Given the description of an element on the screen output the (x, y) to click on. 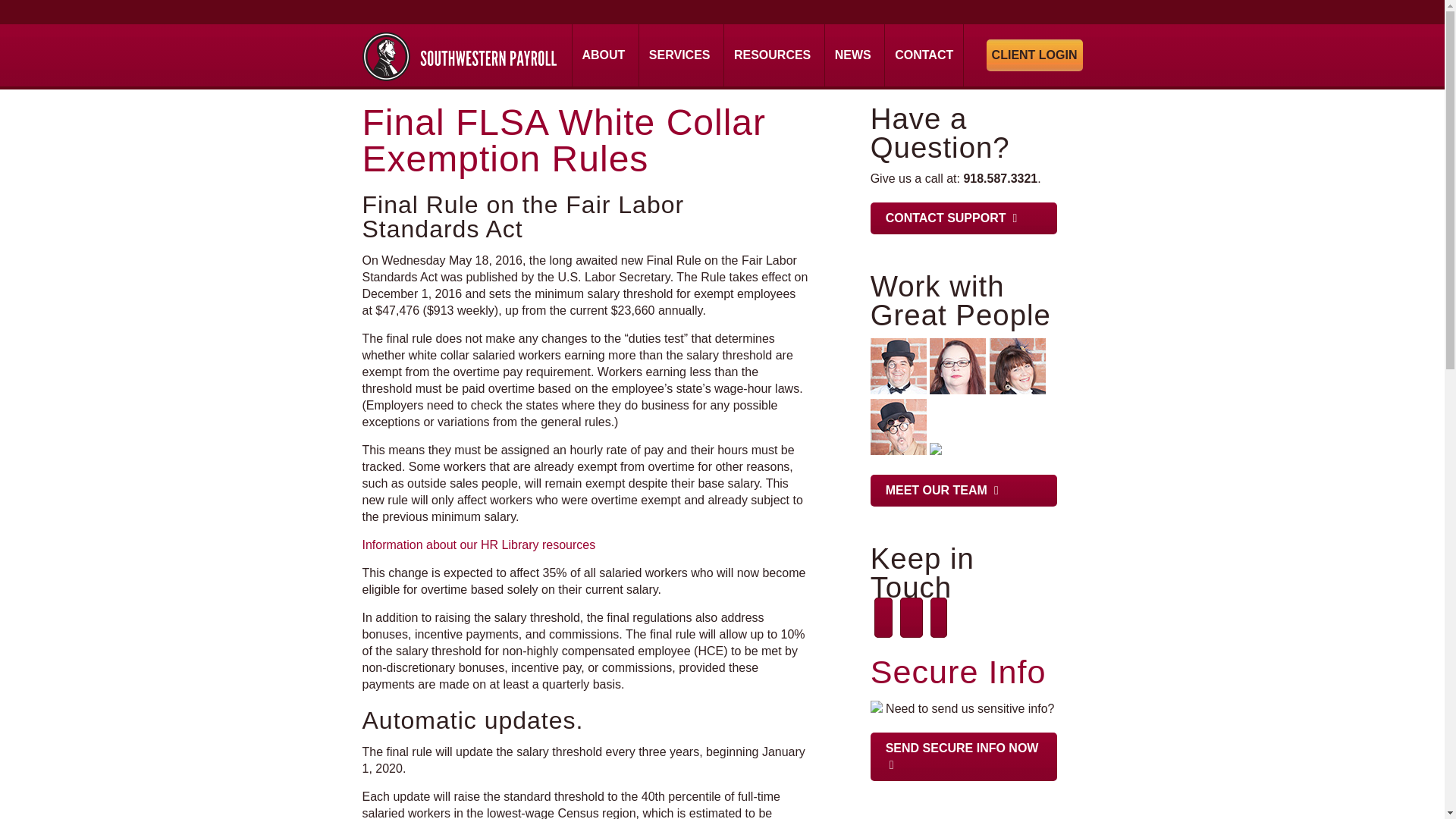
NEWS (852, 54)
ABOUT (604, 54)
CONTACT (924, 54)
SERVICES (679, 54)
RESOURCES (771, 54)
CLIENT LOGIN (1035, 55)
MEET OUR TEAM (963, 490)
Information about our HR Library resources (478, 544)
CONTACT SUPPORT (963, 218)
